Given the description of an element on the screen output the (x, y) to click on. 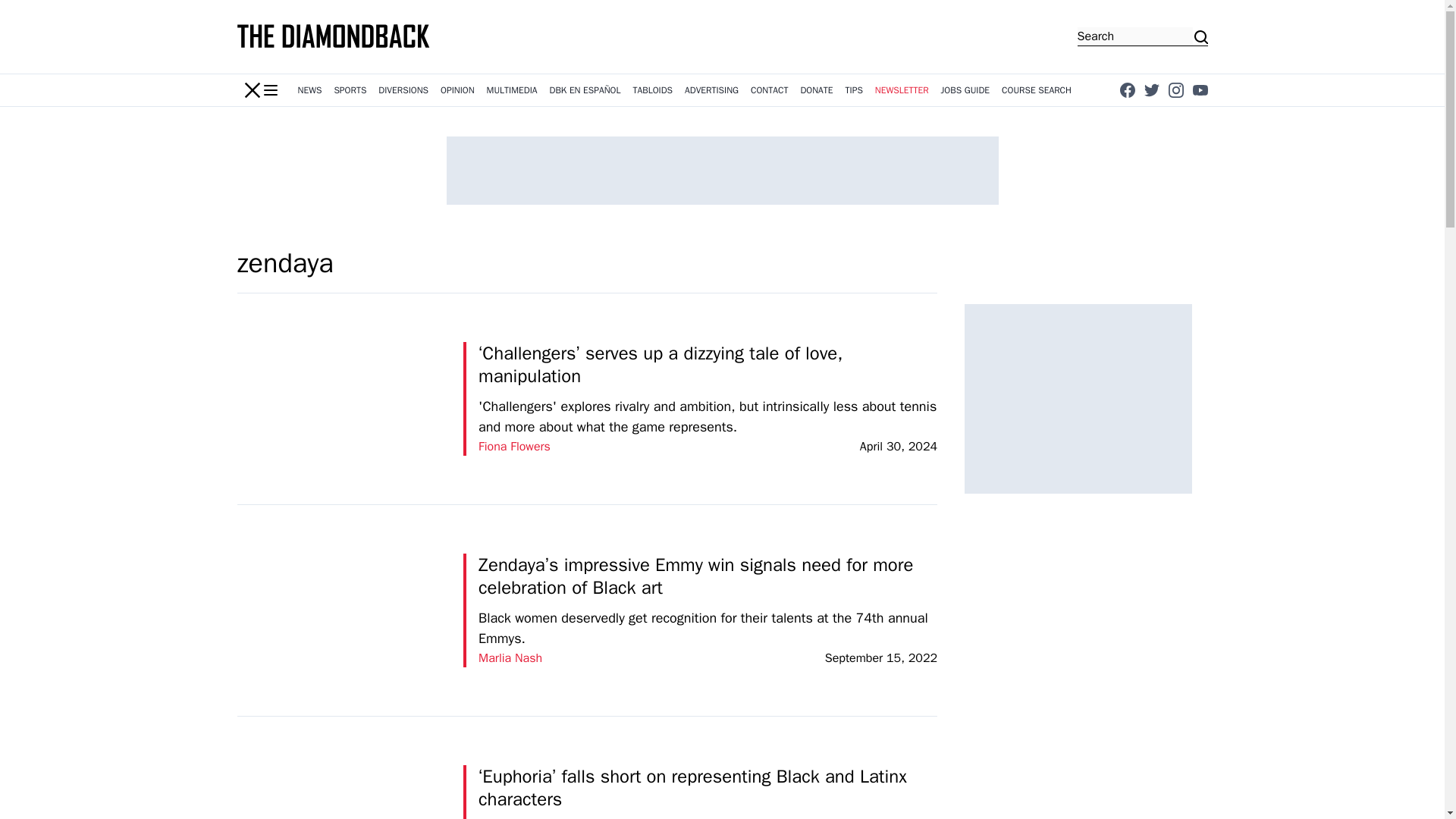
Multimedia (511, 90)
Newsletter (901, 90)
Advertising (711, 90)
DIVERSIONS (402, 90)
The Diamondback on Twitter (1150, 89)
COURSE SEARCH (1036, 90)
Course Search (1036, 90)
MULTIMEDIA (511, 90)
Diversions (402, 90)
SPORTS (349, 90)
Jobs Guide (964, 90)
NEWSLETTER (901, 90)
TIPS (854, 90)
The Diamondback (332, 36)
DONATE (815, 90)
